Given the description of an element on the screen output the (x, y) to click on. 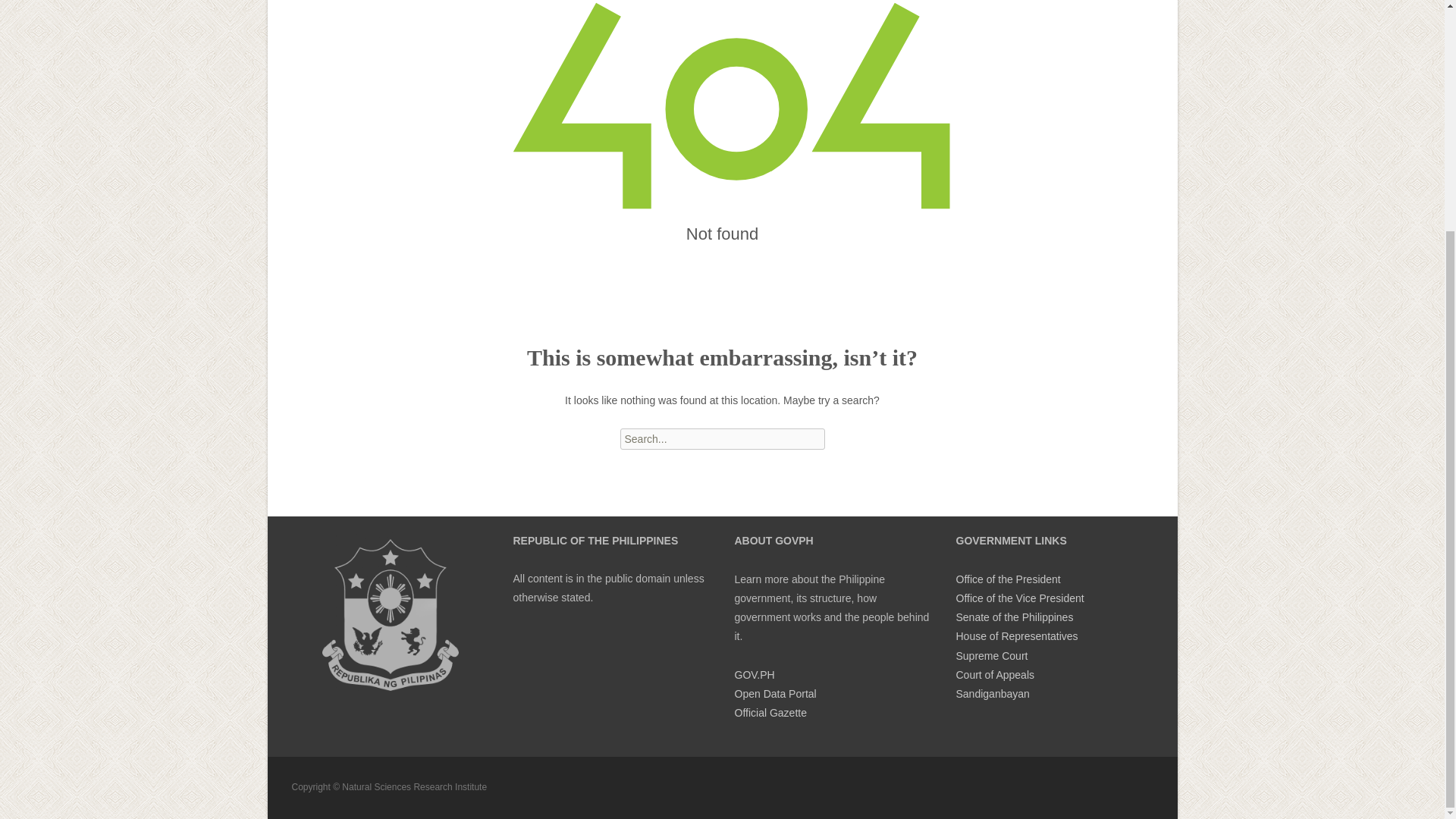
Office of the President (1007, 579)
Official Gazette (769, 712)
Open Data Portal (774, 693)
Sandiganbayan (992, 693)
House of Representatives (1016, 635)
Office of the Vice President (1019, 598)
Senate of the Philippines (1014, 616)
GOV.PH (753, 674)
Search for: (722, 438)
Court of Appeals (994, 674)
